Given the description of an element on the screen output the (x, y) to click on. 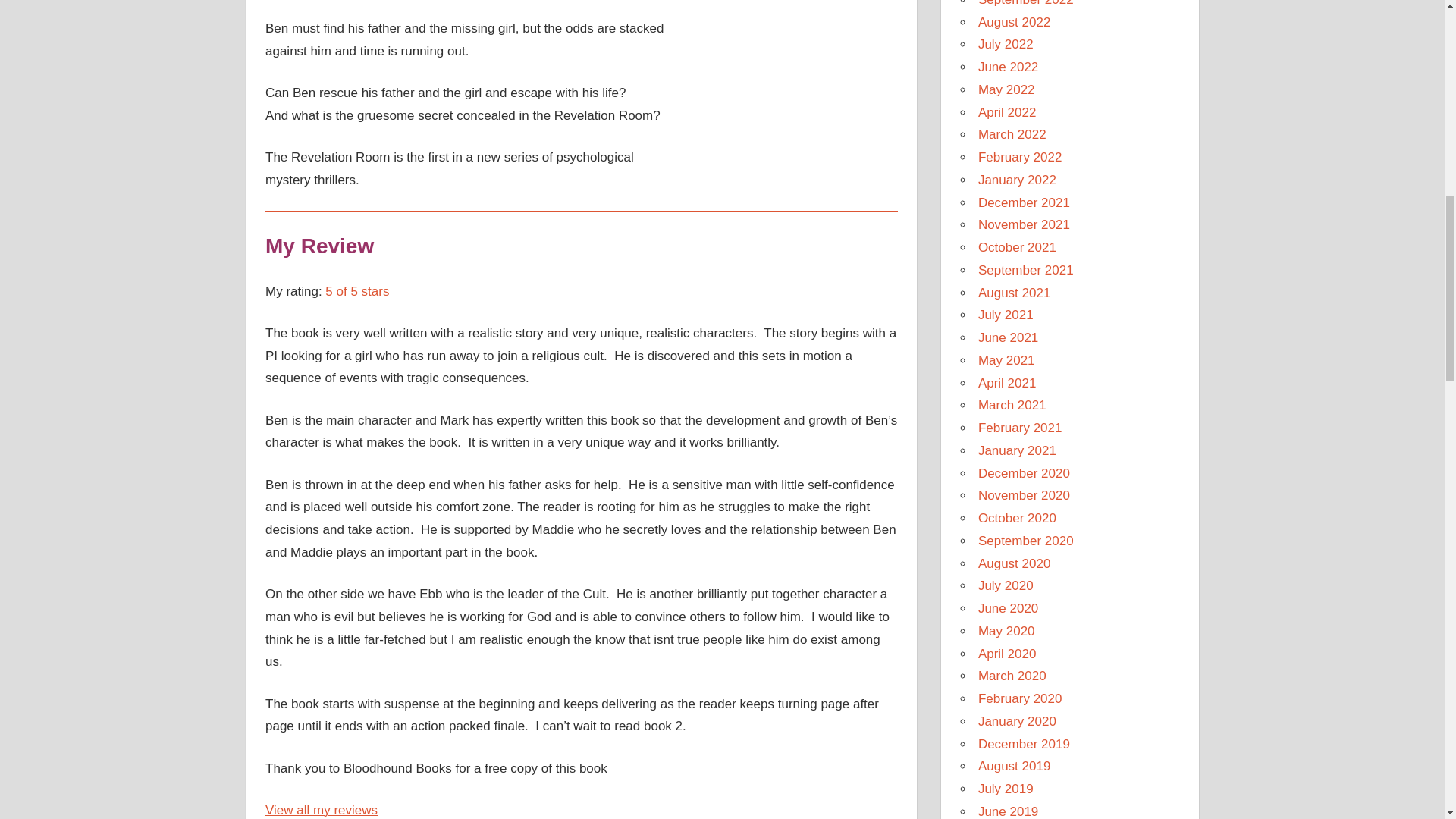
5 of 5 stars (356, 291)
View all my reviews (320, 810)
